Given the description of an element on the screen output the (x, y) to click on. 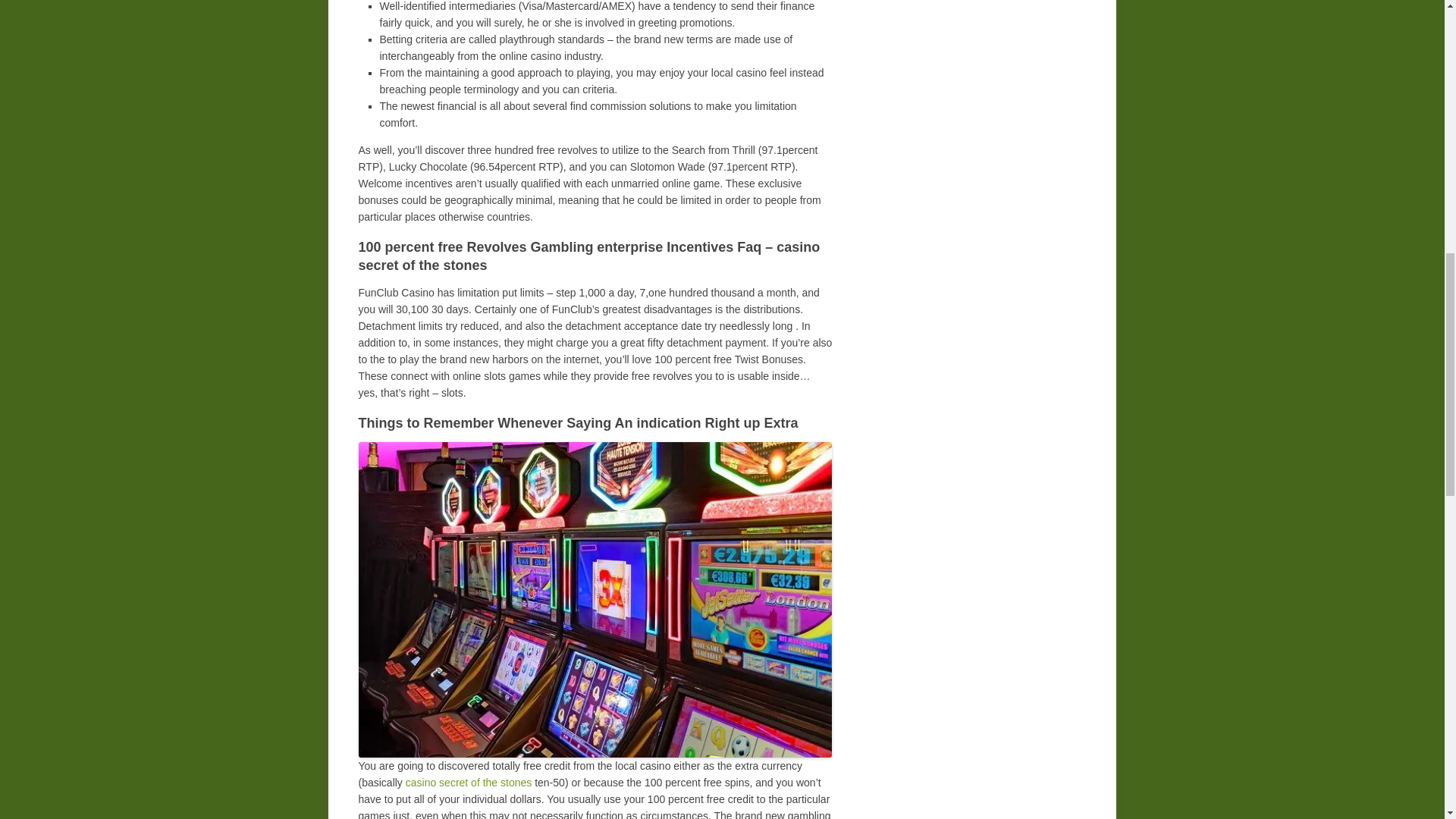
casino secret of the stones (469, 782)
